Given the description of an element on the screen output the (x, y) to click on. 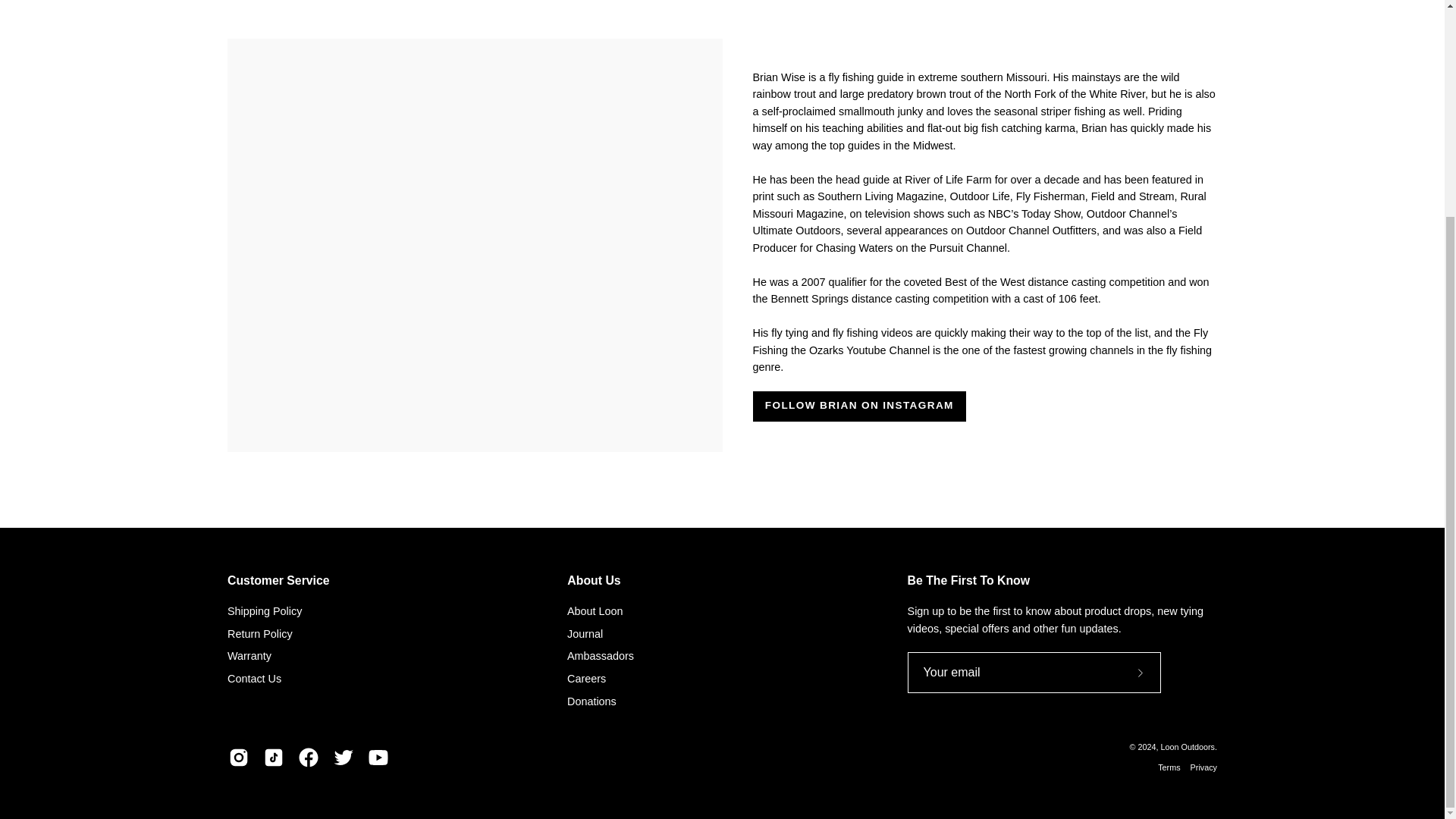
View Loon Outdoors on Tiktok (273, 757)
View Loon Outdoors on Youtube (378, 757)
View Loon Outdoors on Facebook (308, 757)
View Loon Outdoors on Twitter (343, 757)
View Loon Outdoors on Instagram (238, 757)
